Given the description of an element on the screen output the (x, y) to click on. 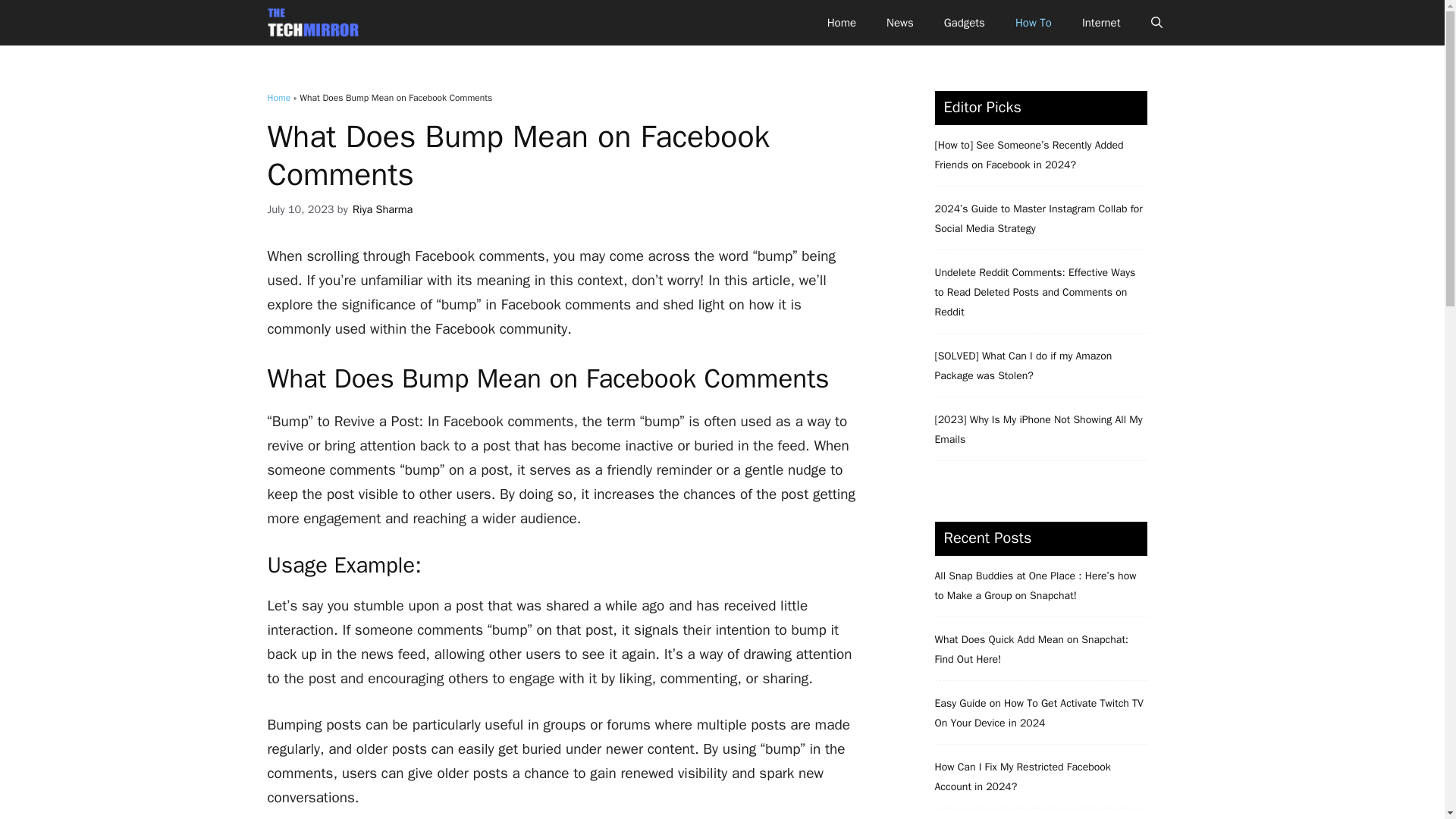
TheTechMirror.com (312, 22)
Home (841, 22)
How Can I Fix My Restricted Facebook Account in 2024? (1021, 776)
Gadgets (964, 22)
Riya Sharma (381, 209)
News (899, 22)
View all posts by Riya Sharma (381, 209)
What Does Quick Add Mean on Snapchat: Find Out Here! (1031, 649)
Home (277, 97)
Internet (1101, 22)
How To (1033, 22)
